Given the description of an element on the screen output the (x, y) to click on. 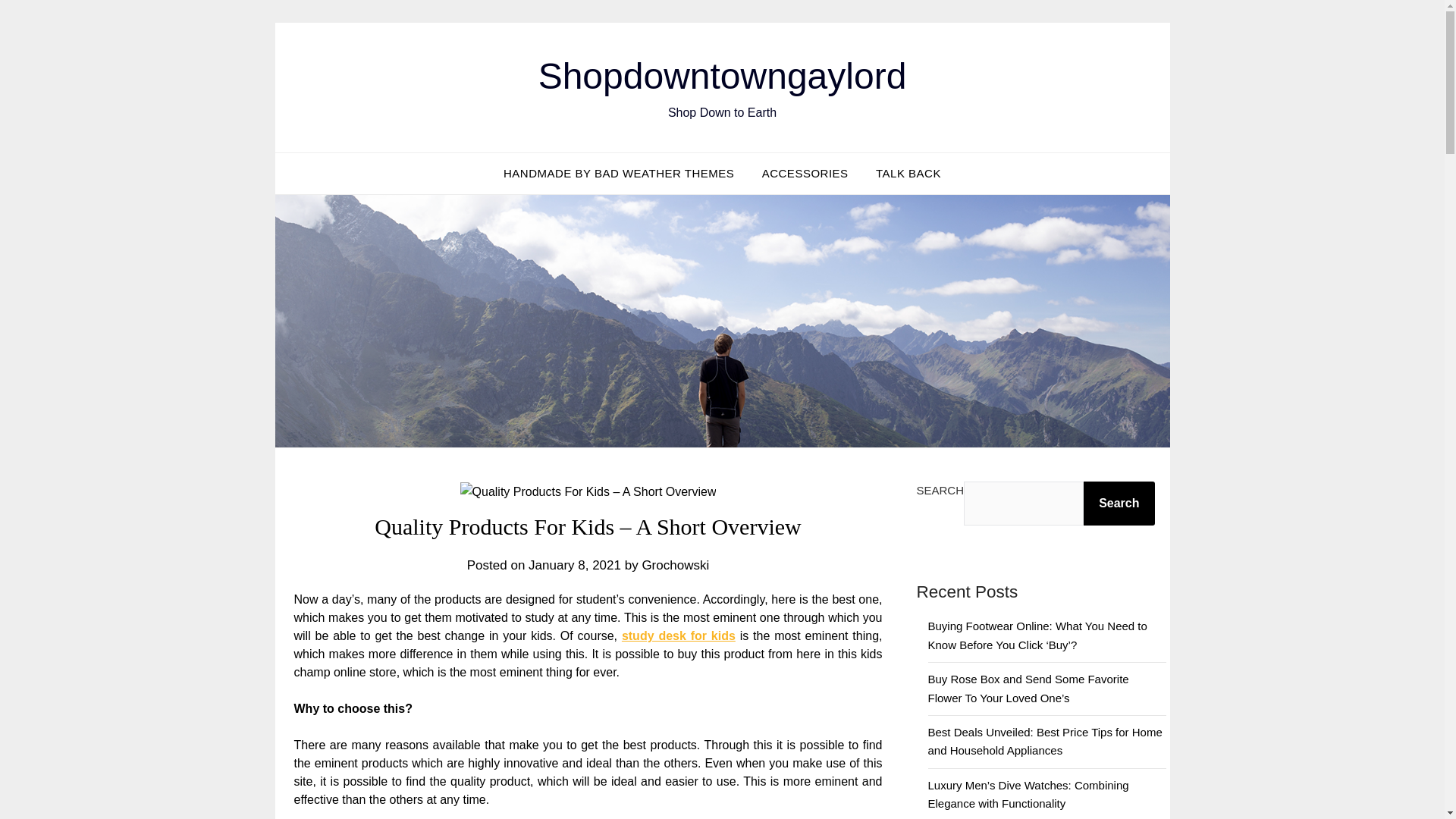
Shopdowntowngaylord (722, 76)
Search (1118, 503)
study desk for kids (678, 635)
TALK BACK (908, 173)
January 8, 2021 (574, 564)
HANDMADE BY BAD WEATHER THEMES (618, 173)
Grochowski (675, 564)
ACCESSORIES (804, 173)
